Given the description of an element on the screen output the (x, y) to click on. 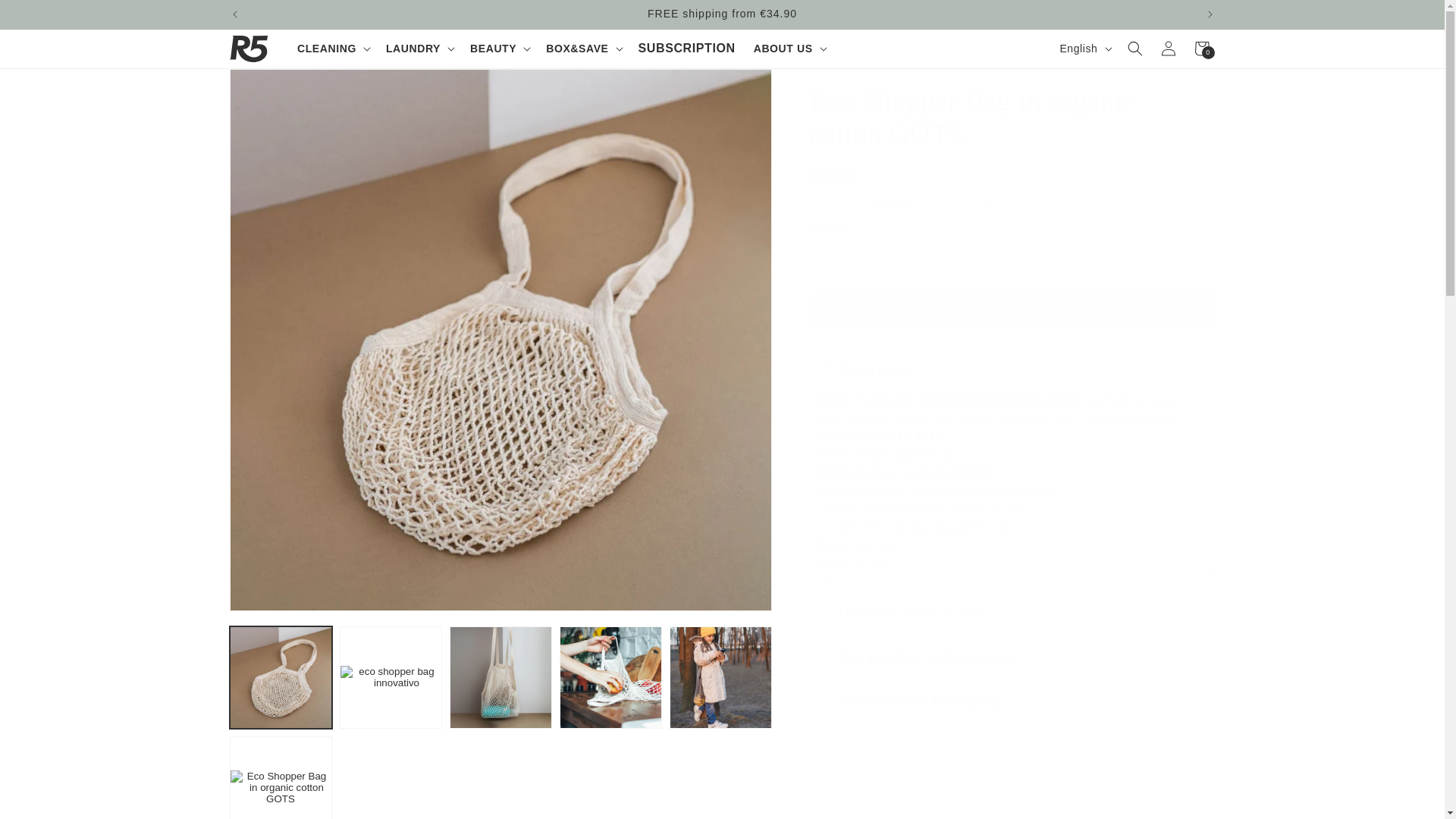
Skip to content (45, 17)
1 (863, 256)
